Given the description of an element on the screen output the (x, y) to click on. 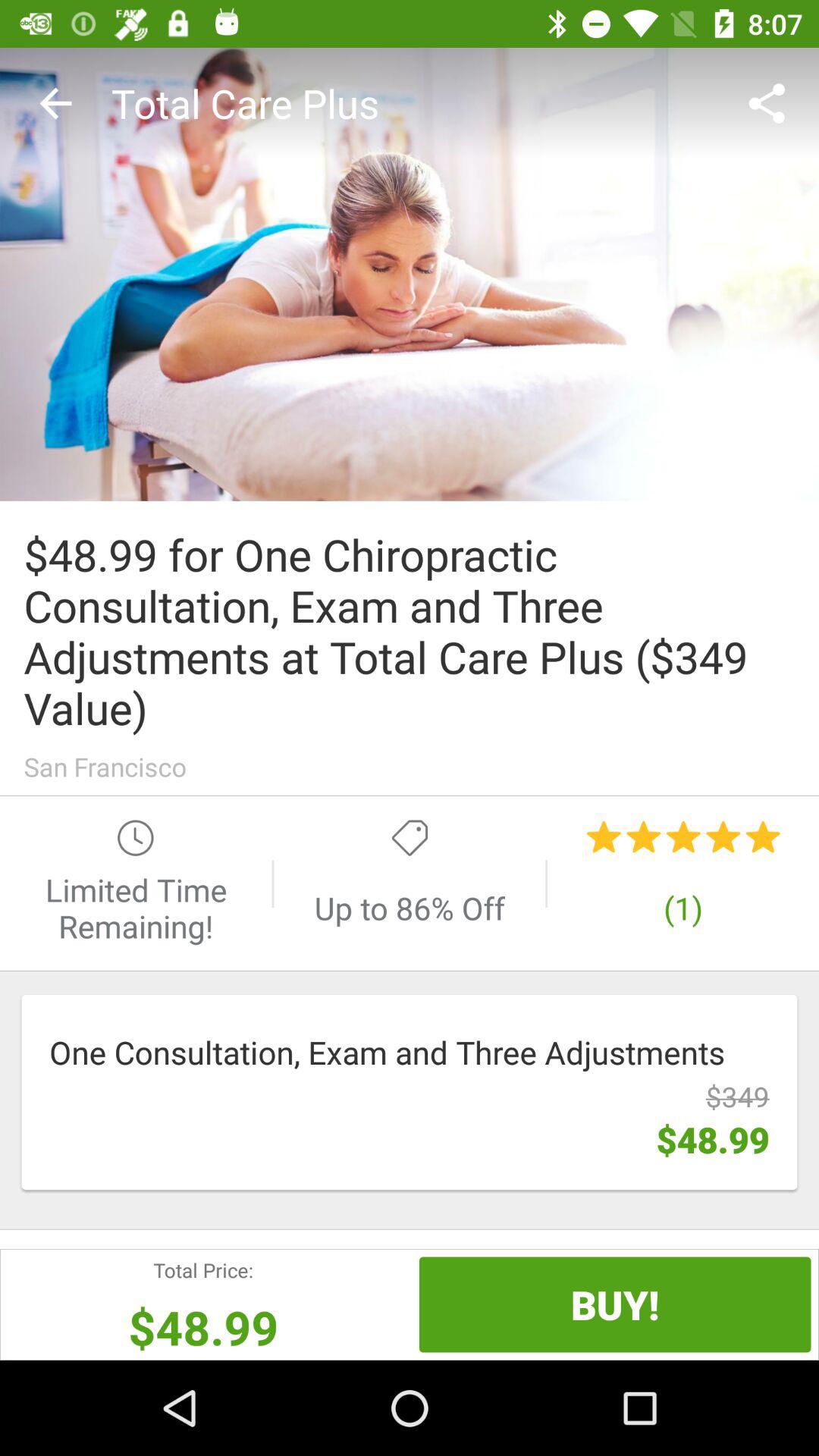
launch the icon to the right of the total care plus icon (771, 103)
